Given the description of an element on the screen output the (x, y) to click on. 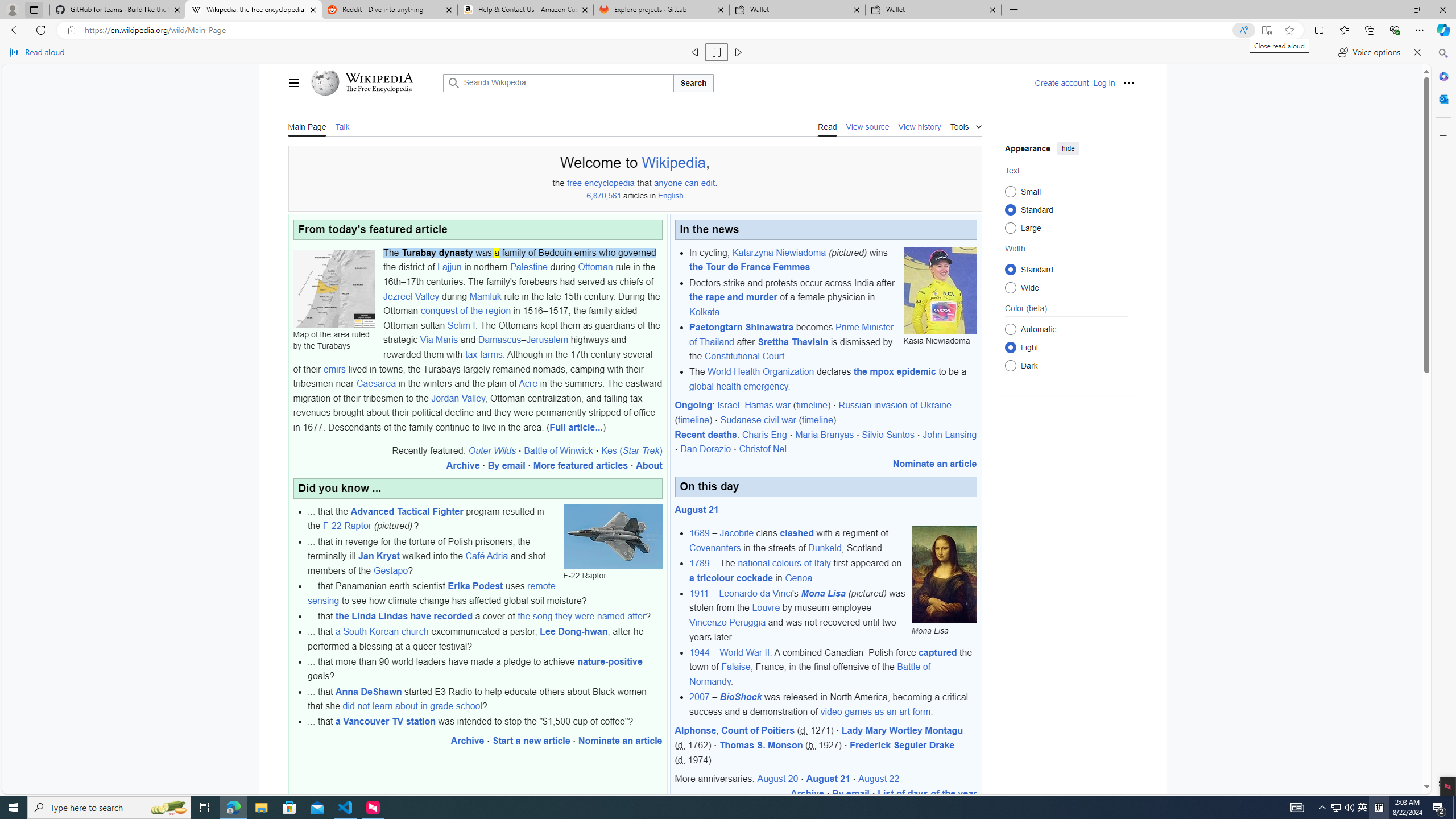
World Health Organization (760, 371)
August 22 (878, 778)
Erika Podest (474, 586)
Dan Dorazio (704, 448)
Main Page (307, 125)
Kolkata (704, 311)
anyone can edit (683, 182)
